Given the description of an element on the screen output the (x, y) to click on. 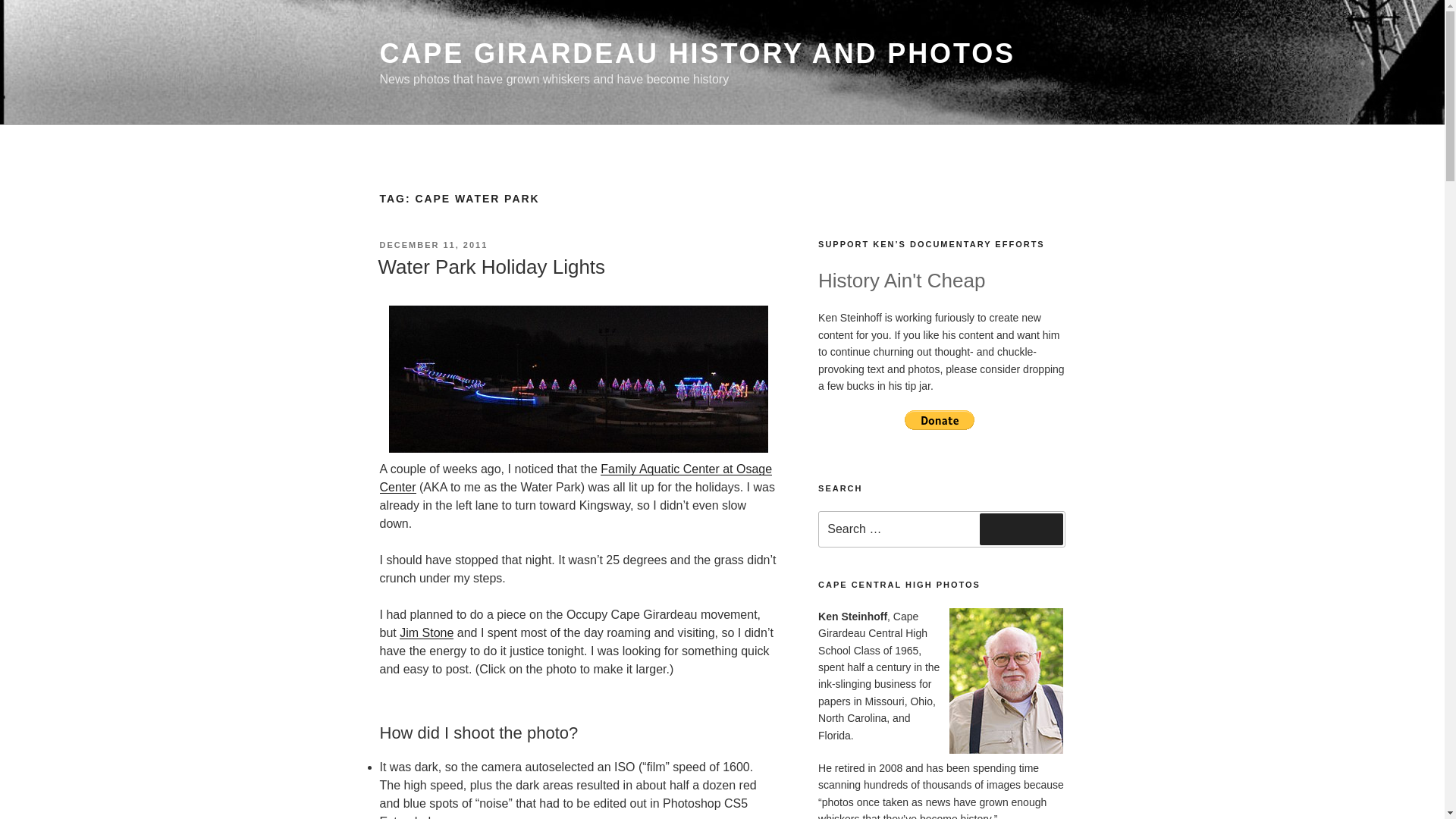
DECEMBER 11, 2011 (432, 244)
Holiday lights at Family Aquatic Center 12-10-2011 (578, 378)
Search (1020, 529)
Water Park Holiday Lights (491, 266)
Jim Stone (425, 632)
CAPE GIRARDEAU HISTORY AND PHOTOS (696, 52)
Cape Water Park just before it opened (574, 477)
Family Aquatic Center at Osage Center (574, 477)
Jim Stone visit story (425, 632)
